Given the description of an element on the screen output the (x, y) to click on. 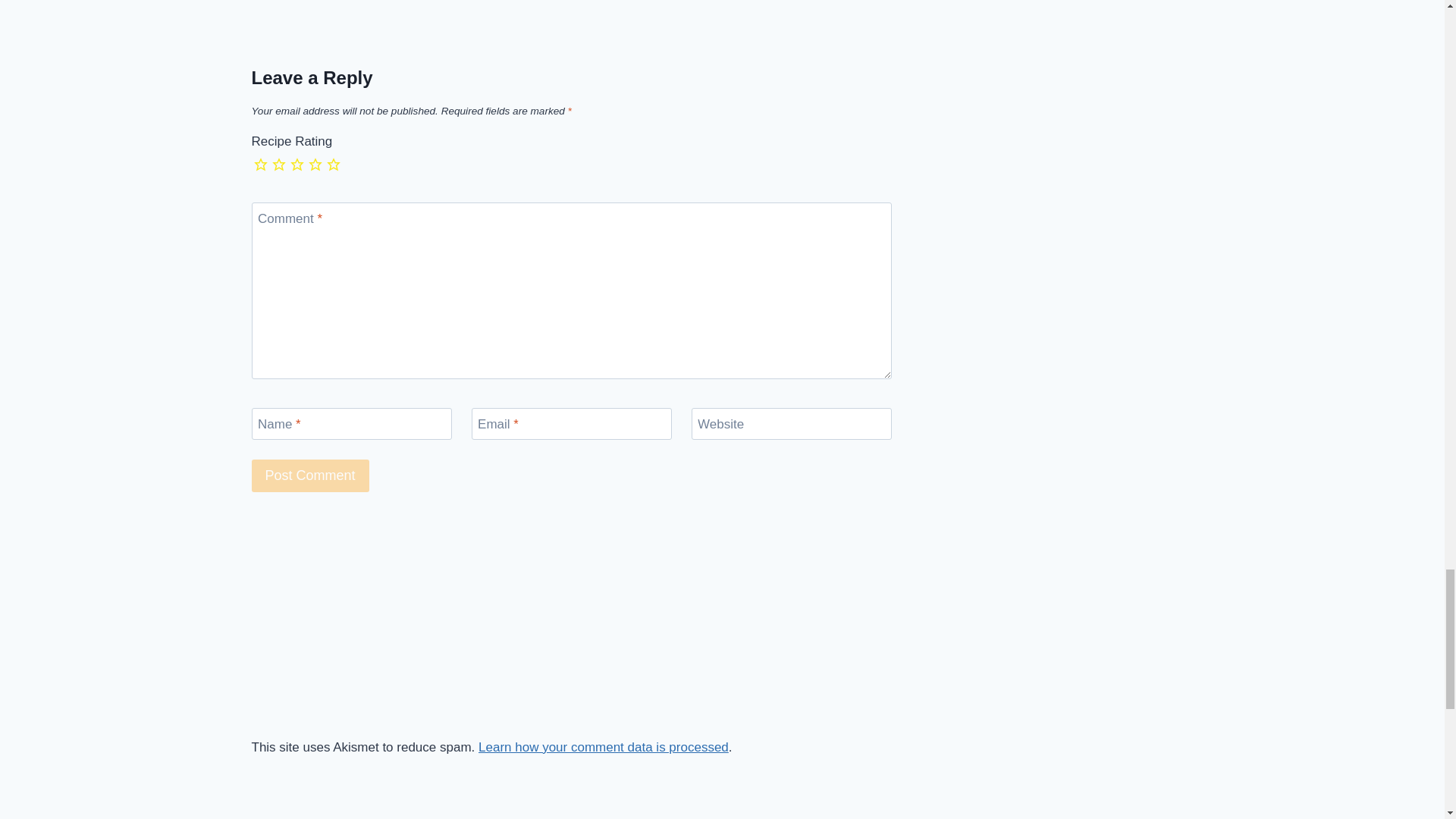
Post Comment (310, 475)
